Given the description of an element on the screen output the (x, y) to click on. 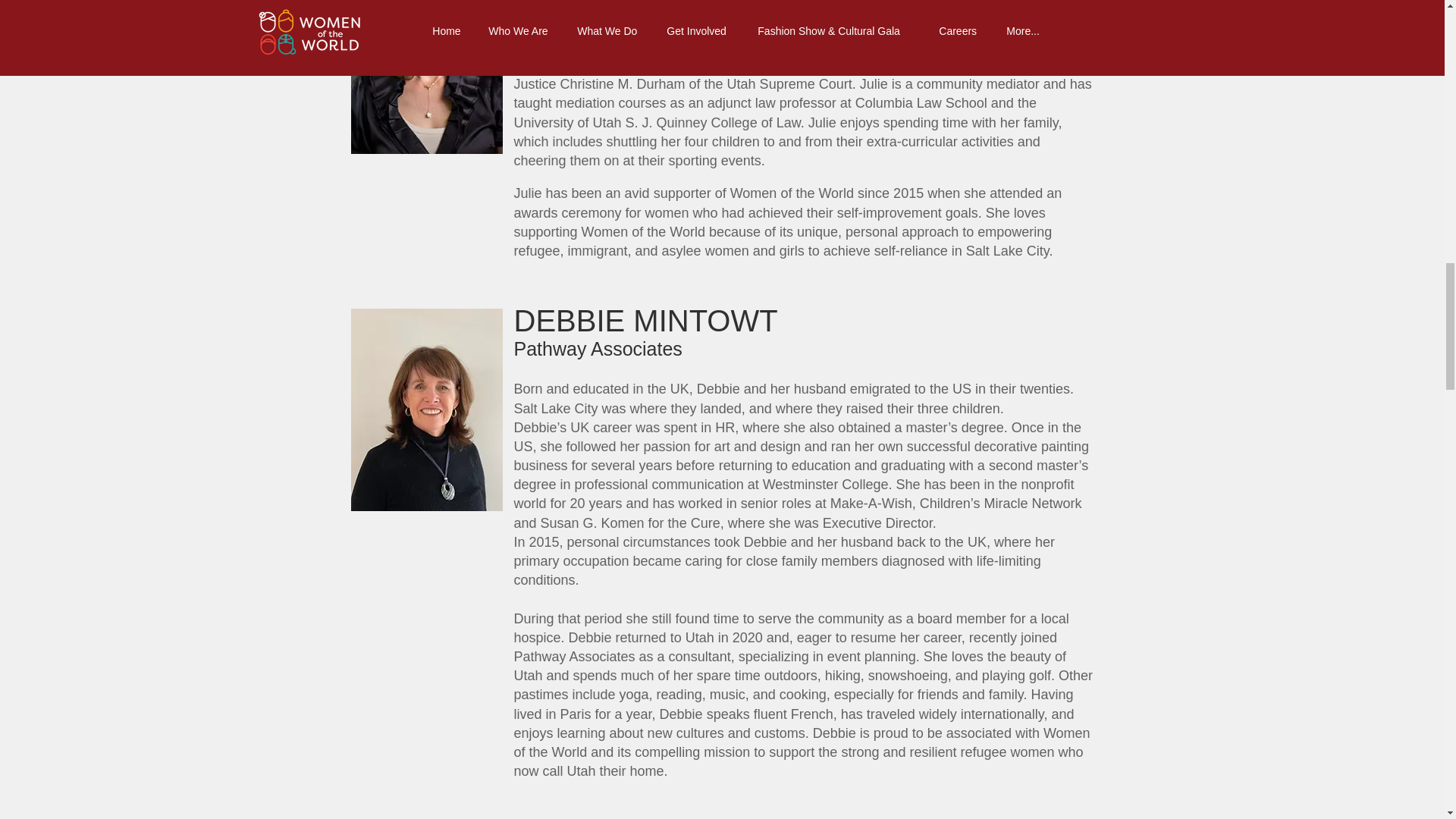
Julie.jpg (426, 76)
